Given the description of an element on the screen output the (x, y) to click on. 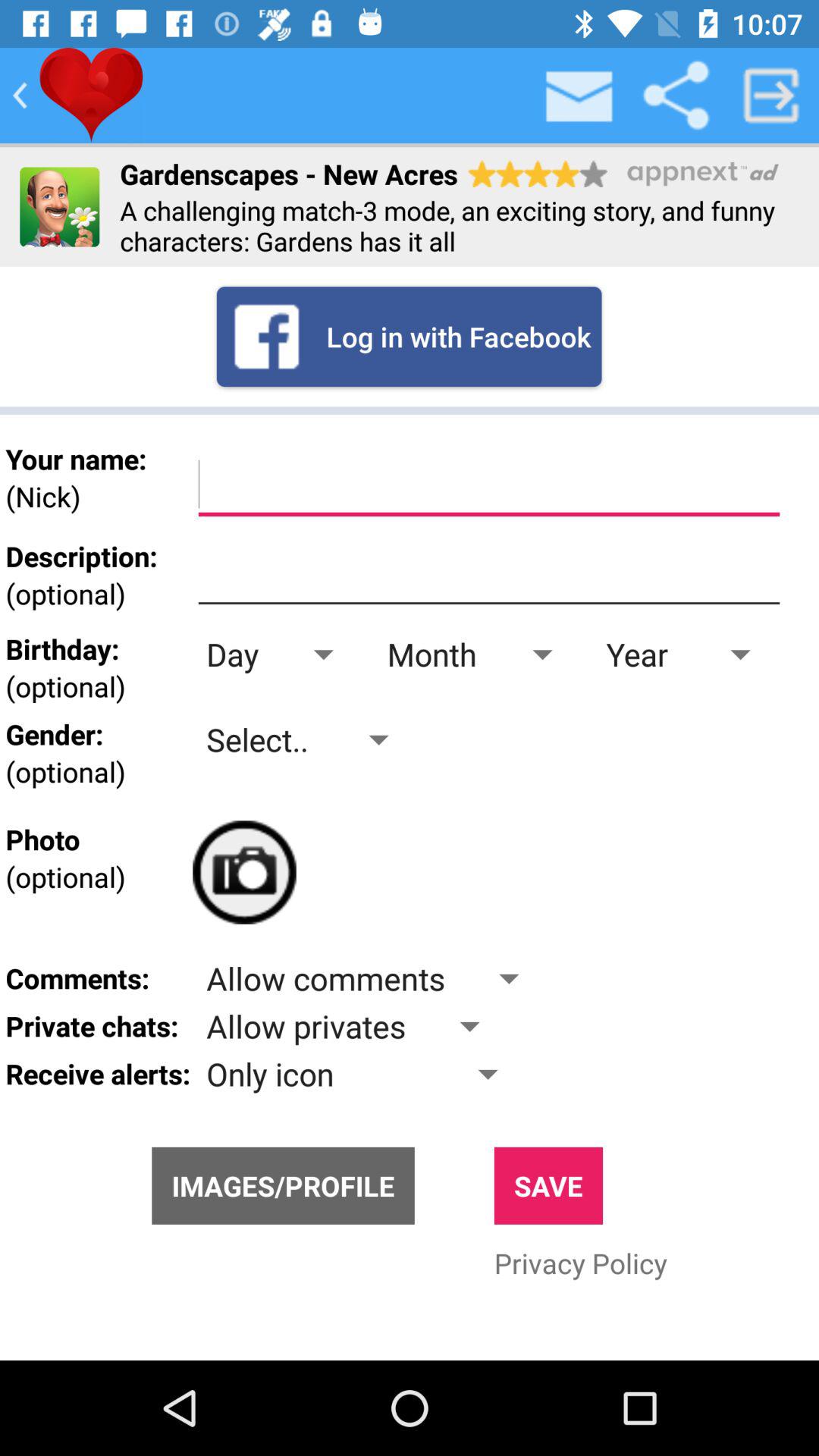
message senting button (579, 95)
